Given the description of an element on the screen output the (x, y) to click on. 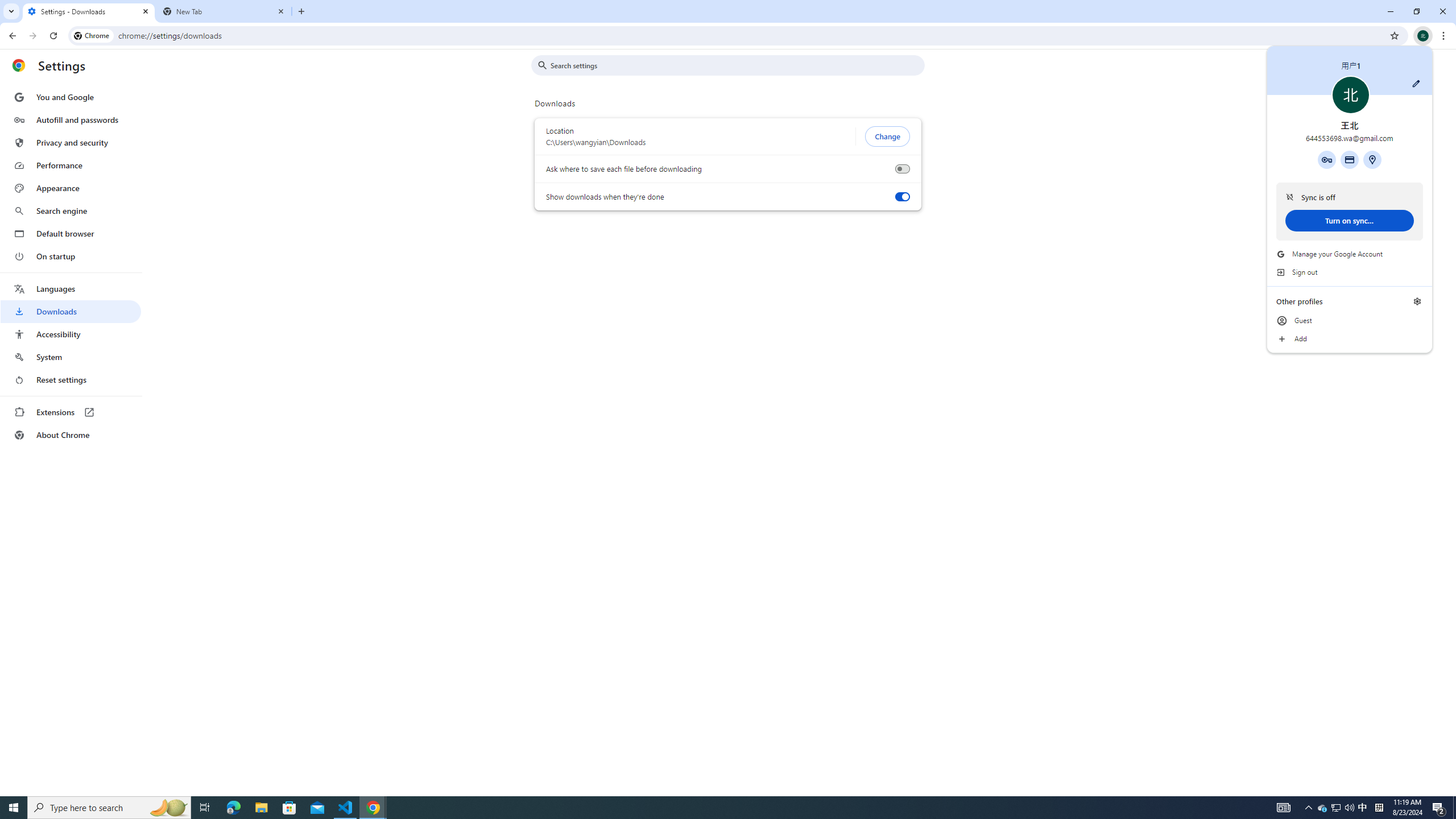
Back (10, 35)
New Tab (301, 11)
Show downloads when they're done (901, 197)
Search highlights icon opens search home window (167, 807)
Guest (1349, 321)
On startup (70, 255)
Extensions (70, 412)
Add (1322, 807)
Performance (1349, 339)
Payment methods (70, 164)
Task View (1349, 159)
